Given the description of an element on the screen output the (x, y) to click on. 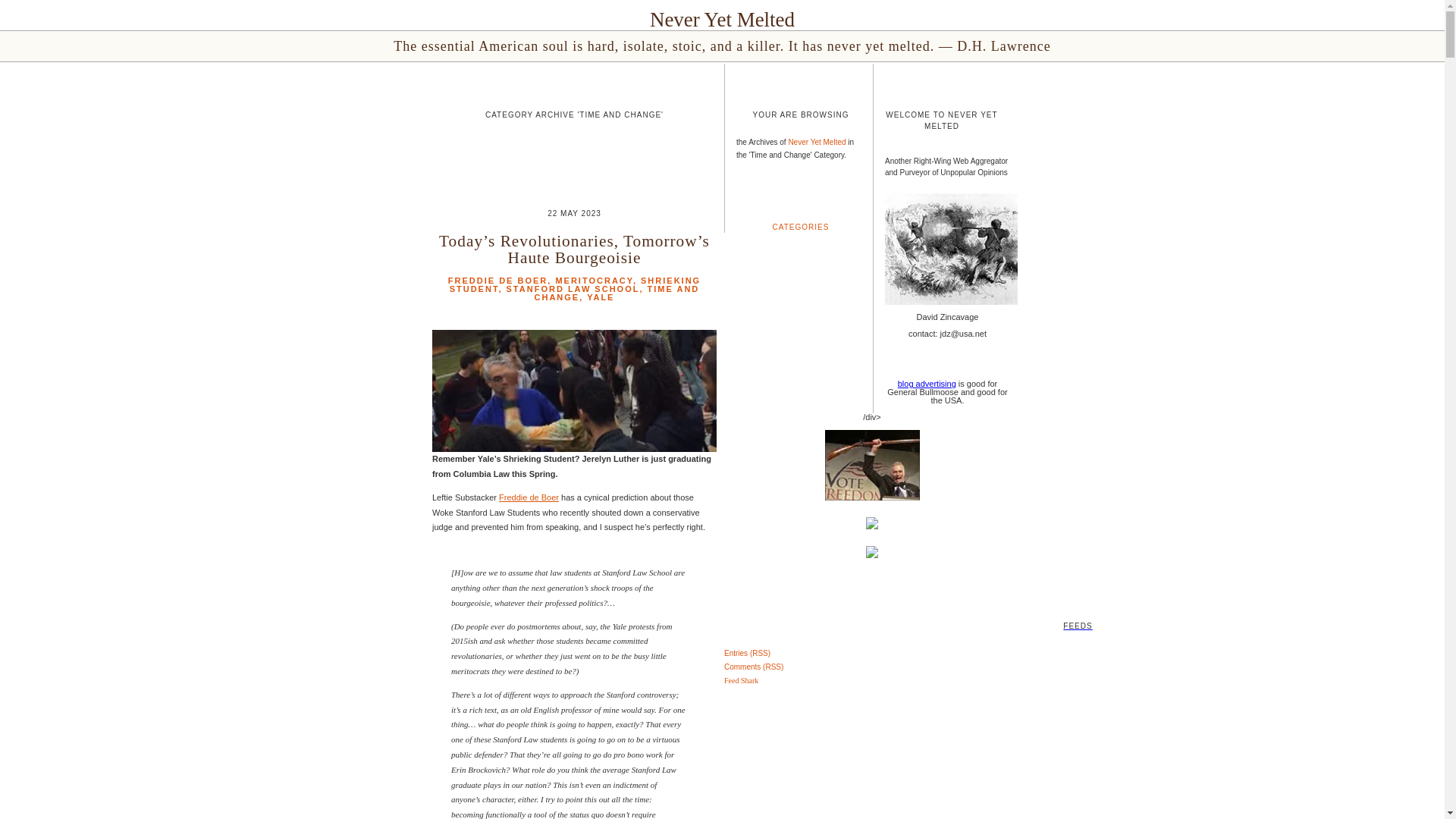
TIME AND CHANGE (617, 293)
MERITOCRACY (592, 280)
STANFORD LAW SCHOOL (573, 288)
SHRIEKING STUDENT (574, 284)
Freddie de Boer (529, 497)
FREDDIE DE BOER (497, 280)
YALE (600, 297)
Never Yet Melted (721, 19)
